Given the description of an element on the screen output the (x, y) to click on. 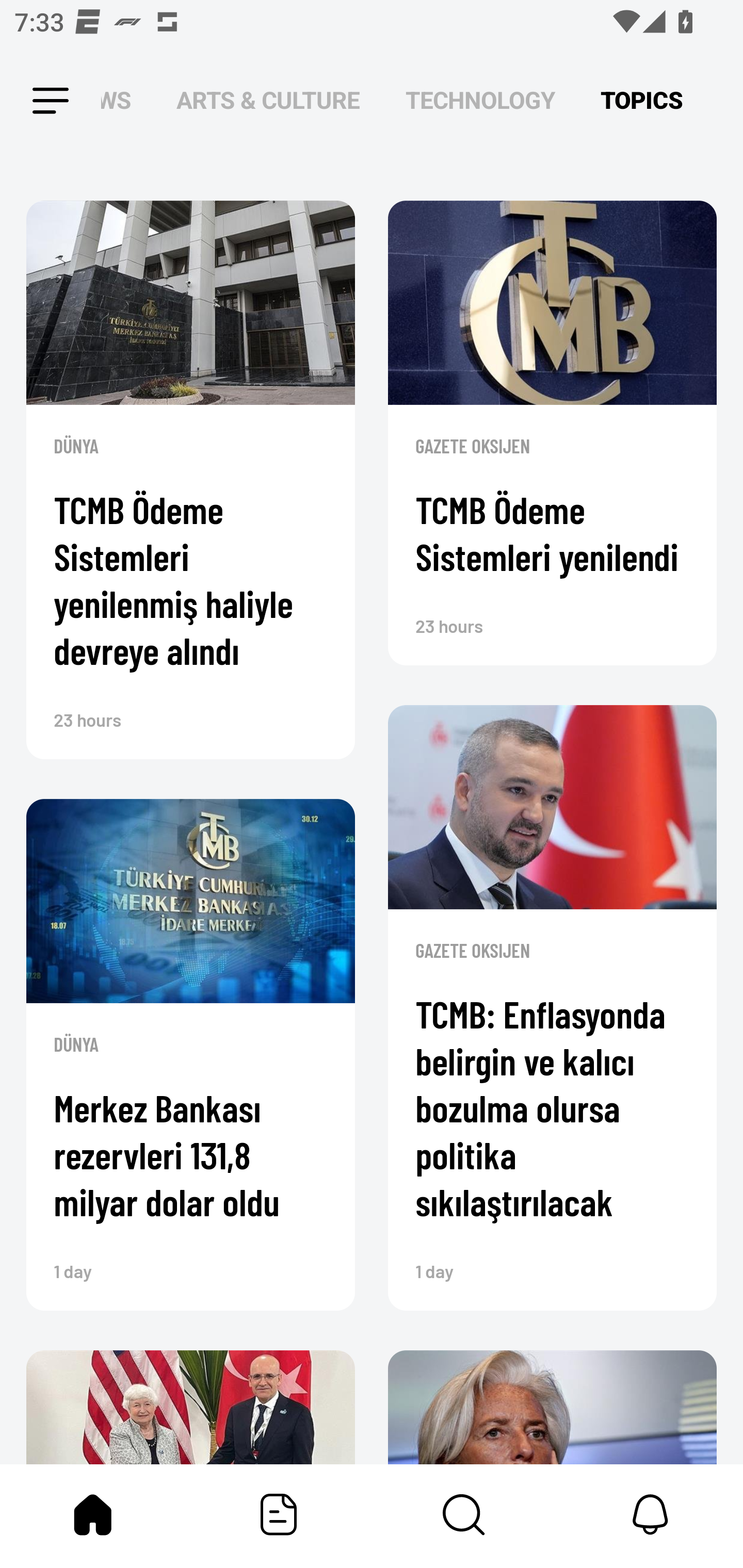
NEWS (121, 100)
ARTS & CULTURE (268, 100)
TECHNOLOGY (480, 100)
Featured (278, 1514)
Content Store (464, 1514)
Notifications (650, 1514)
